Given the description of an element on the screen output the (x, y) to click on. 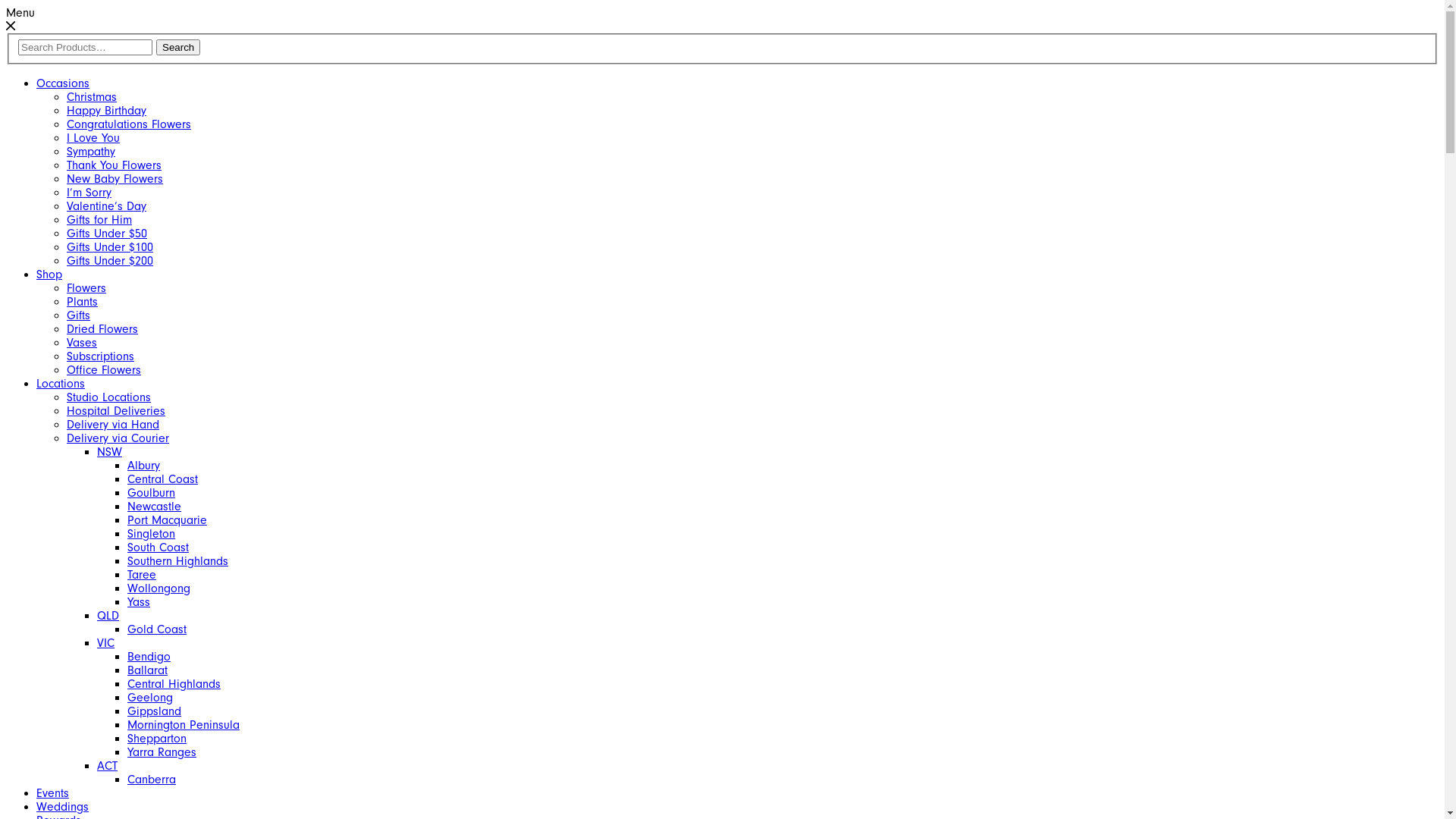
South Coast Element type: text (157, 547)
Port Macquarie Element type: text (167, 520)
Bendigo Element type: text (148, 656)
Thank You Flowers Element type: text (113, 165)
Mornington Peninsula Element type: text (183, 724)
Geelong Element type: text (149, 697)
Weddings Element type: text (62, 806)
Singleton Element type: text (151, 533)
Canberra Element type: text (151, 779)
Goulburn Element type: text (151, 492)
Subscriptions Element type: text (100, 356)
Occasions Element type: text (62, 83)
VIC Element type: text (105, 642)
Gifts Under $100 Element type: text (109, 247)
Close Element type: hover (10, 26)
Gifts Under $200 Element type: text (109, 260)
Events Element type: text (52, 793)
Gifts Element type: text (78, 315)
Newcastle Element type: text (154, 506)
Taree Element type: text (141, 574)
Shepparton Element type: text (156, 738)
Wollongong Element type: text (158, 588)
Shop Element type: text (49, 274)
Sympathy Element type: text (90, 151)
Delivery via Courier Element type: text (117, 438)
Delivery via Hand Element type: text (112, 424)
Search Element type: text (178, 47)
Southern Highlands Element type: text (177, 560)
Gippsland Element type: text (154, 711)
ACT Element type: text (107, 765)
Plants Element type: text (81, 301)
Central Highlands Element type: text (173, 683)
Locations Element type: text (60, 383)
Central Coast Element type: text (162, 479)
Yass Element type: text (138, 601)
Vases Element type: text (81, 342)
I Love You Element type: text (92, 137)
Gifts Under $50 Element type: text (106, 233)
Gold Coast Element type: text (156, 629)
Dried Flowers Element type: text (102, 328)
Happy Birthday Element type: text (106, 110)
Ballarat Element type: text (147, 670)
Gifts for Him Element type: text (98, 219)
Congratulations Flowers Element type: text (128, 124)
Office Flowers Element type: text (103, 369)
Albury Element type: text (143, 465)
Flowers Element type: text (86, 287)
Yarra Ranges Element type: text (161, 752)
New Baby Flowers Element type: text (114, 178)
Studio Locations Element type: text (108, 397)
NSW Element type: text (109, 451)
Hospital Deliveries Element type: text (115, 410)
Christmas Element type: text (91, 96)
QLD Element type: text (108, 615)
